Given the description of an element on the screen output the (x, y) to click on. 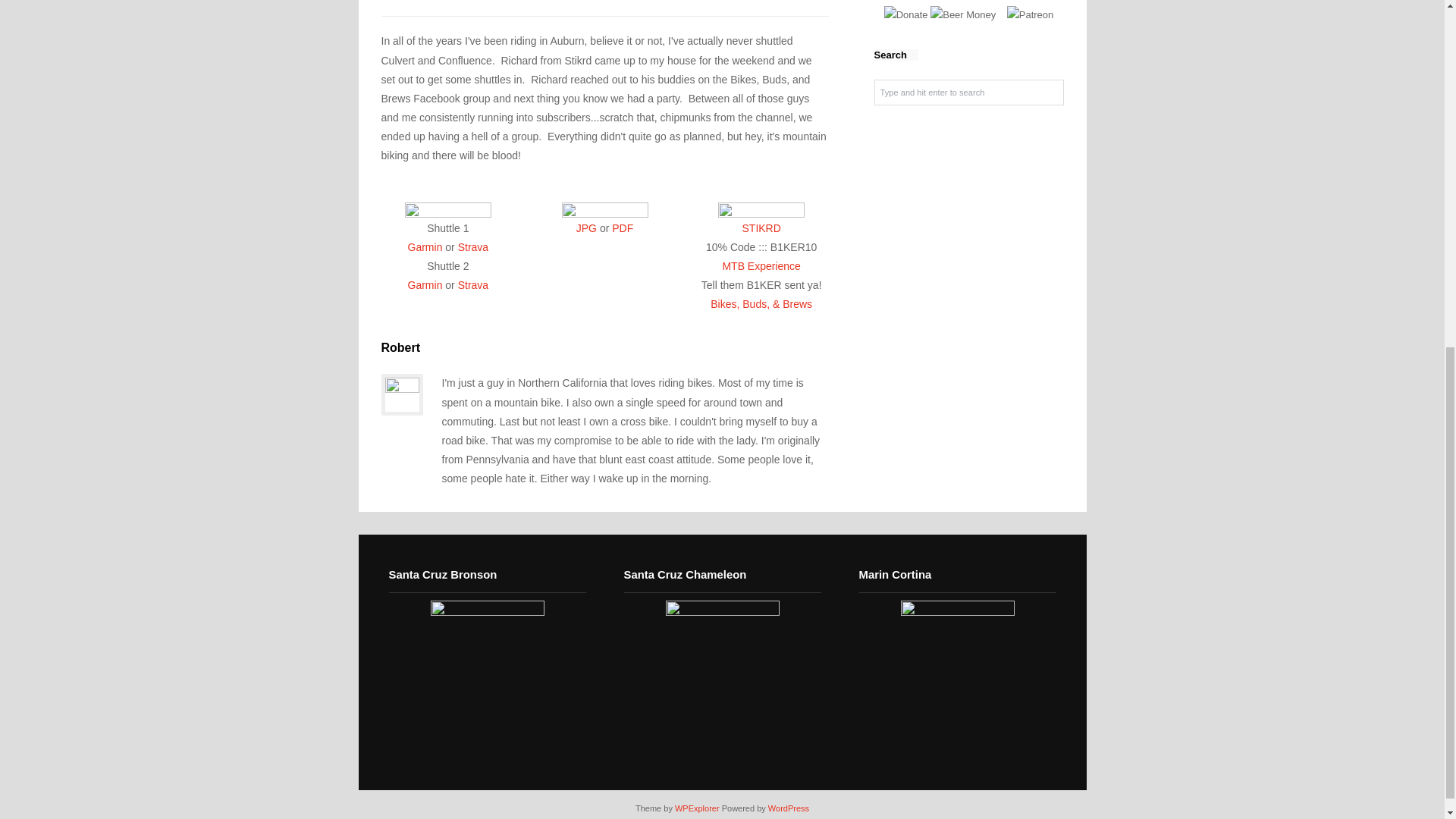
Strava (472, 246)
Robert (400, 347)
MTB Experience (760, 265)
WordPress.org (788, 808)
Type and hit enter to search (967, 92)
STIKRD (760, 227)
WPExplorer (697, 808)
Strava (472, 285)
PDF (622, 227)
JPG (586, 227)
Garmin (424, 246)
Posts by Robert (400, 347)
Garmin (424, 285)
WordPress (788, 808)
WPExplorer (697, 808)
